Given the description of an element on the screen output the (x, y) to click on. 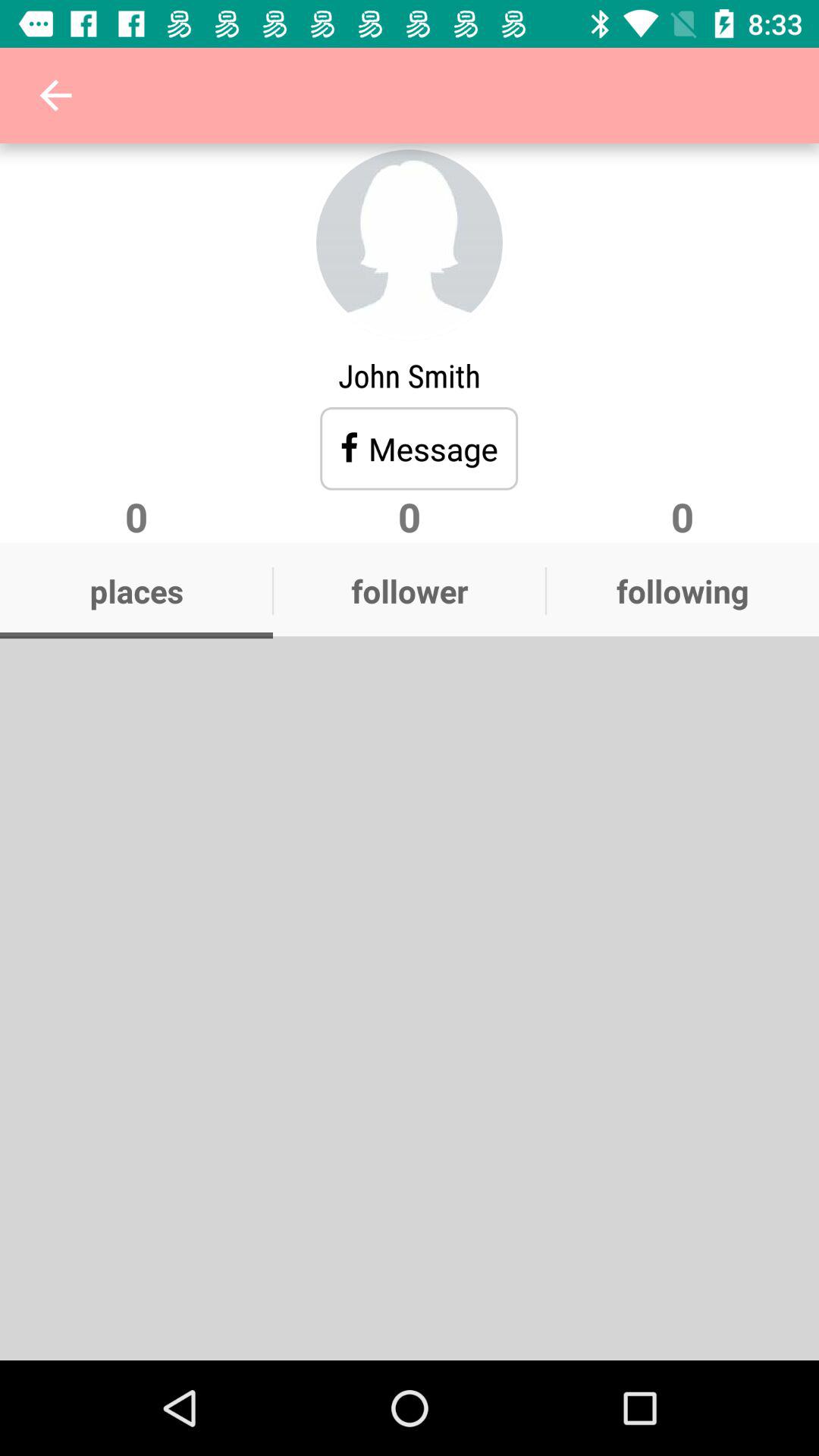
choose item at the top left corner (55, 95)
